Given the description of an element on the screen output the (x, y) to click on. 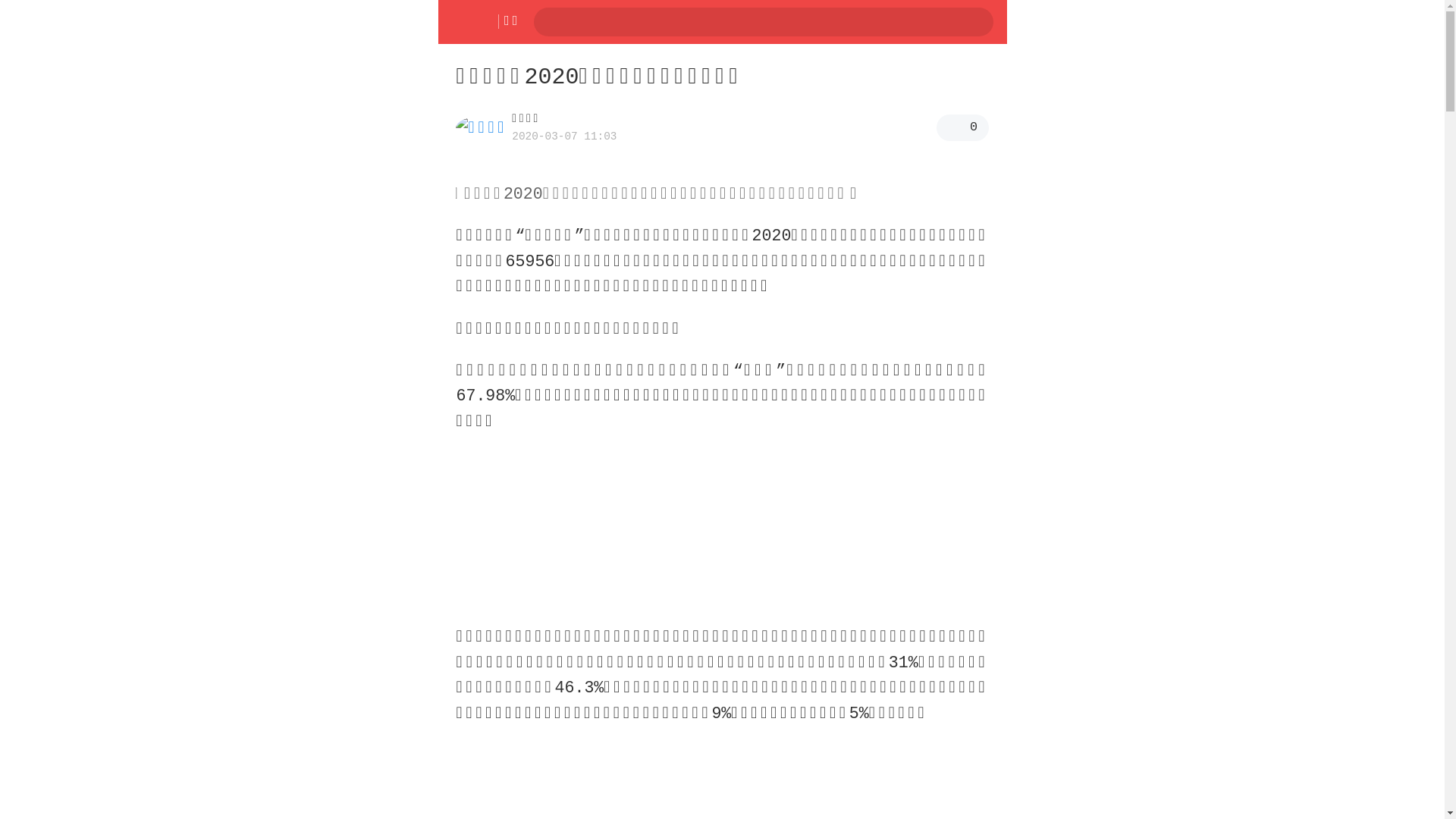
0 Element type: text (962, 127)
